Given the description of an element on the screen output the (x, y) to click on. 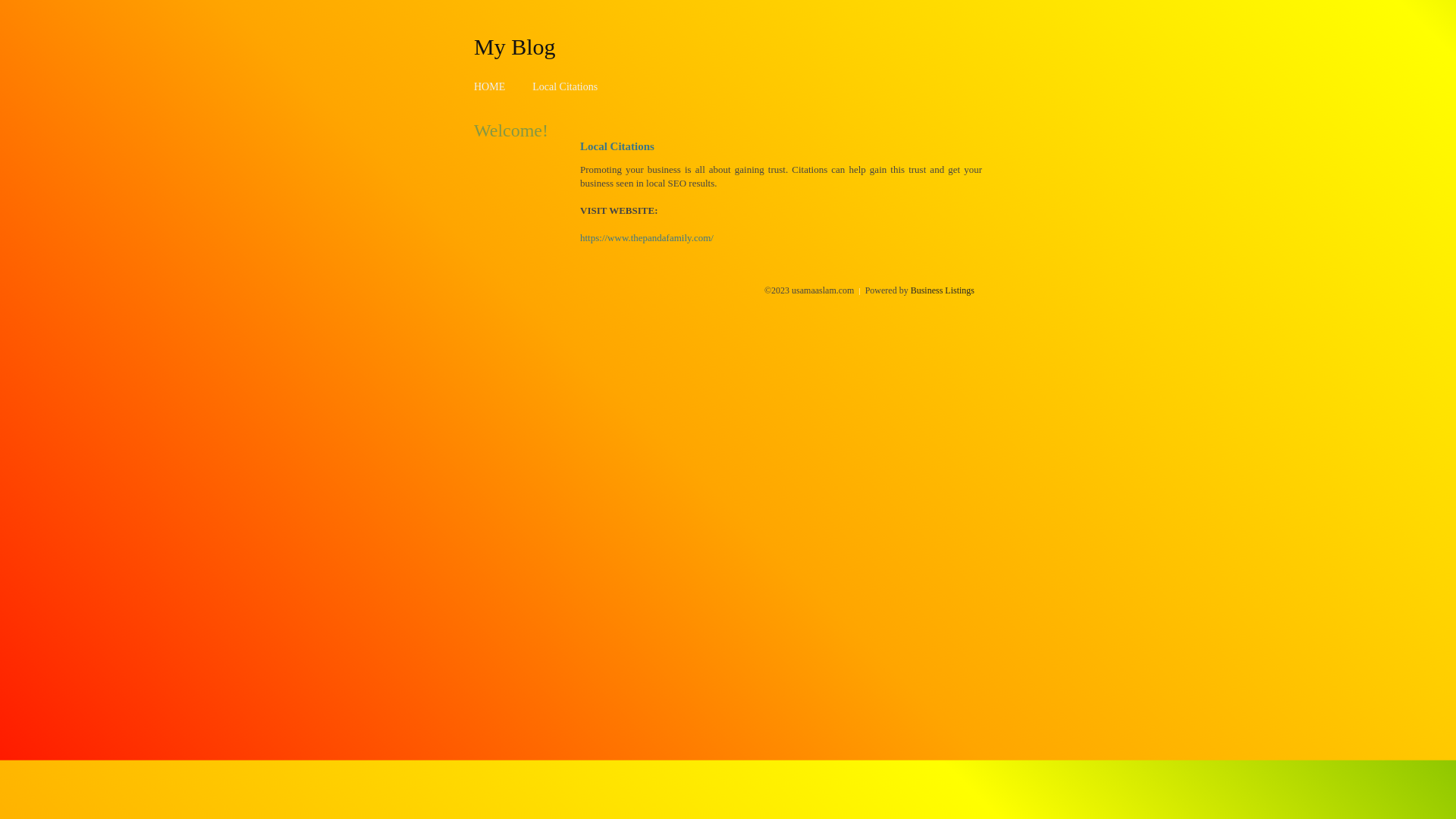
HOME Element type: text (489, 86)
Business Listings Element type: text (942, 290)
My Blog Element type: text (514, 46)
Local Citations Element type: text (564, 86)
https://www.thepandafamily.com/ Element type: text (646, 237)
